Given the description of an element on the screen output the (x, y) to click on. 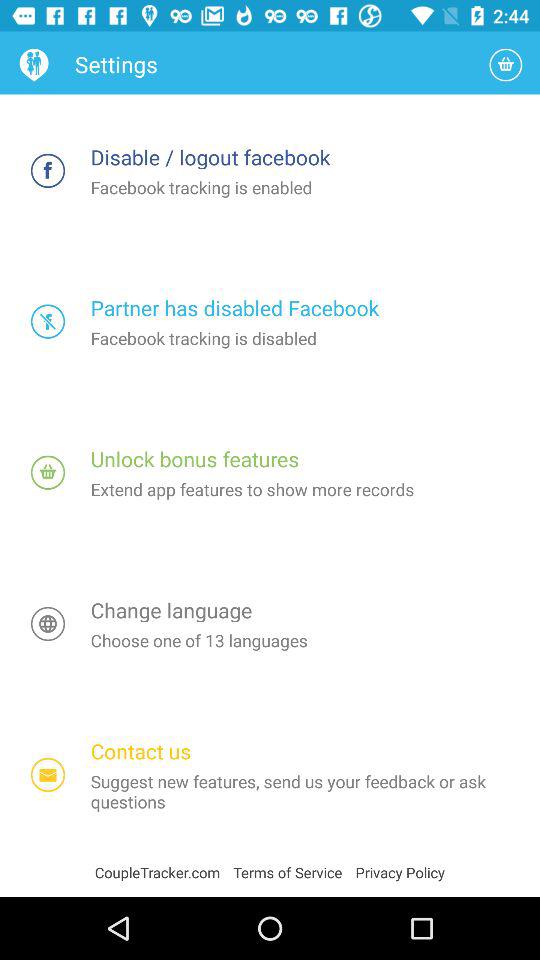
disable tracking (47, 321)
